Given the description of an element on the screen output the (x, y) to click on. 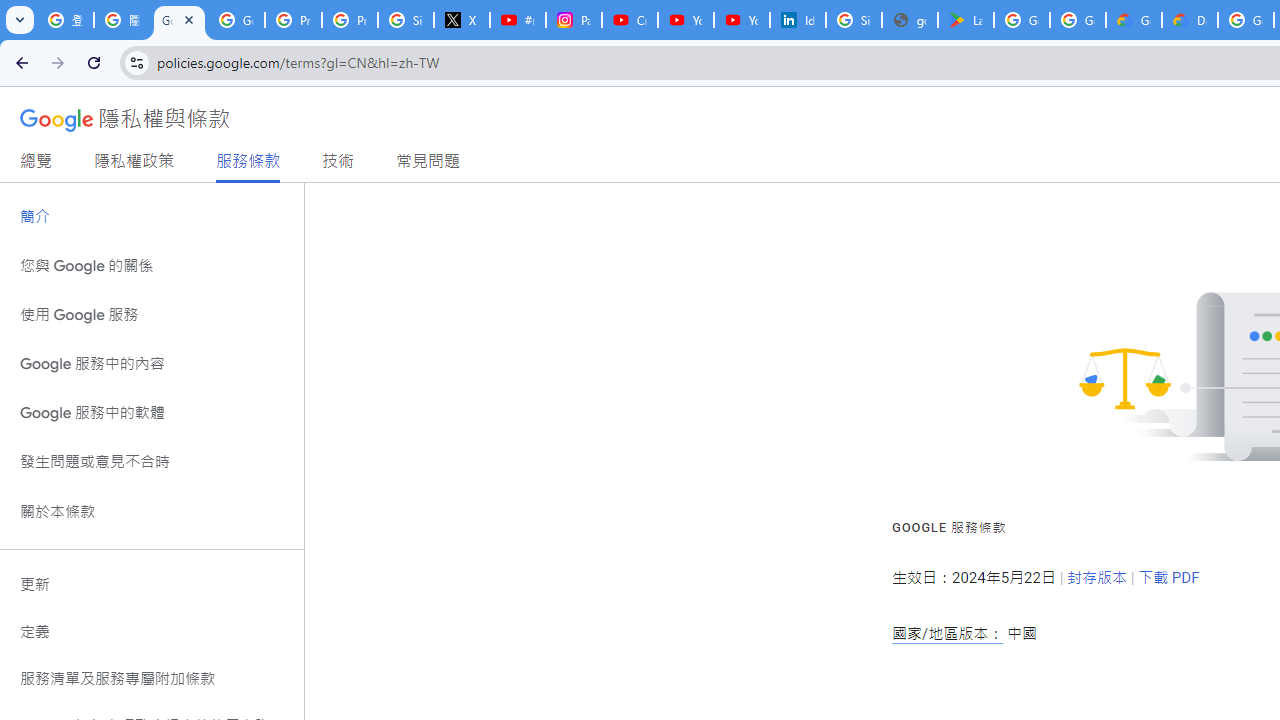
Government | Google Cloud (1133, 20)
Sign in - Google Accounts (405, 20)
#nbabasketballhighlights - YouTube (518, 20)
